Given the description of an element on the screen output the (x, y) to click on. 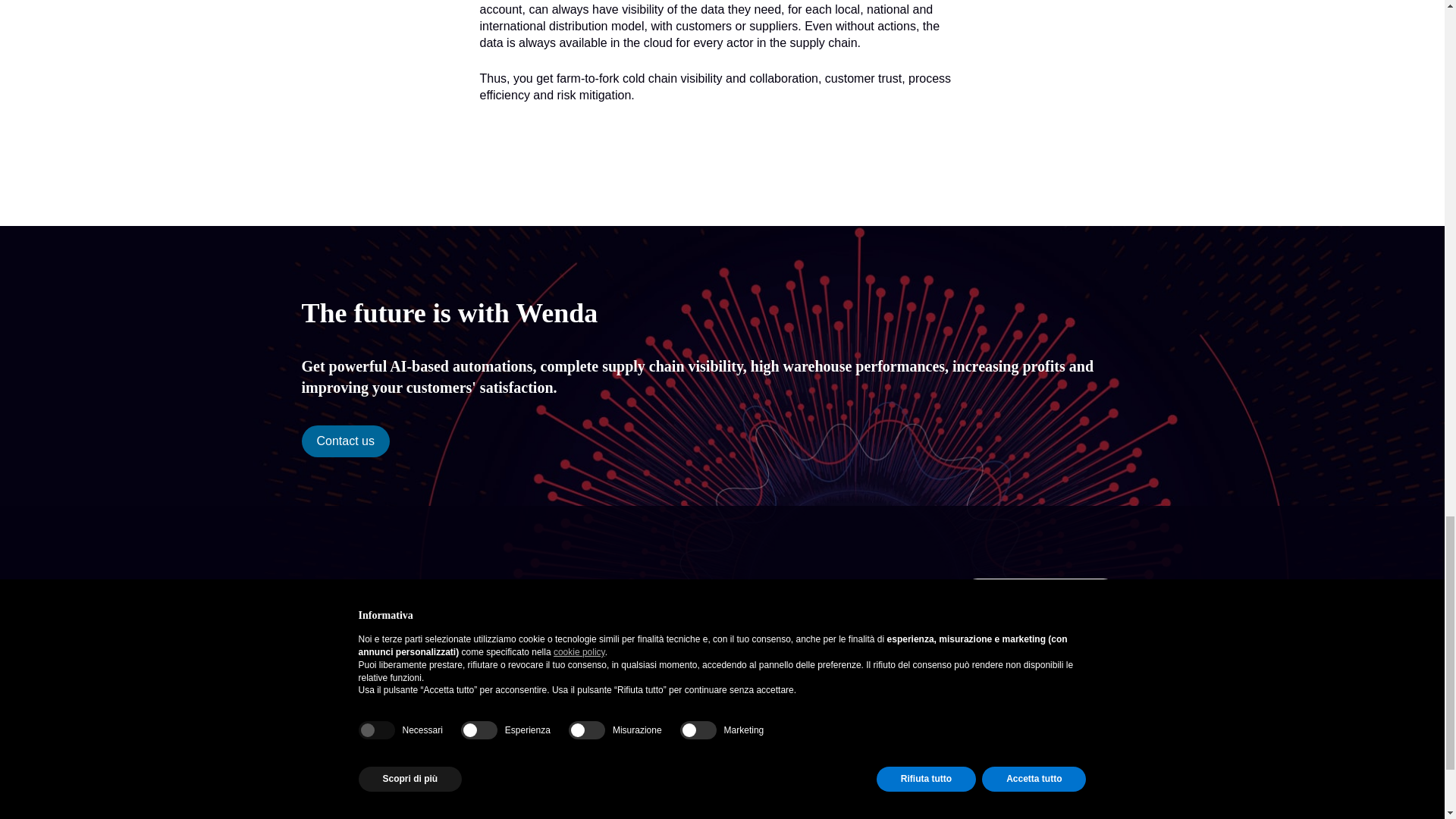
Contact us (1039, 594)
English (515, 744)
About us (519, 657)
Contact us (345, 441)
Login (1039, 638)
Italiano (515, 757)
News (510, 630)
Blog (507, 644)
